Given the description of an element on the screen output the (x, y) to click on. 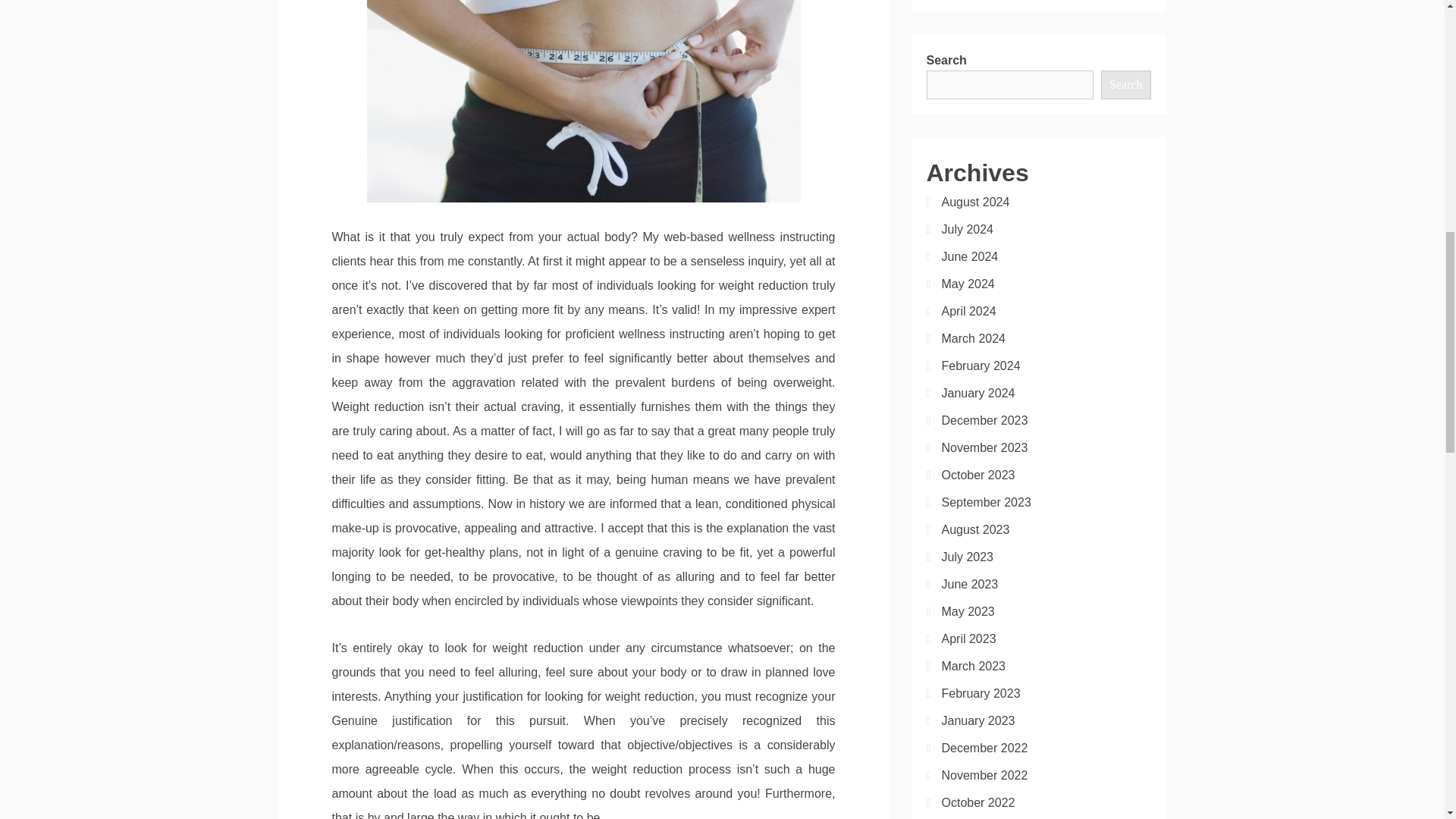
June 2023 (970, 584)
February 2024 (981, 365)
July 2024 (968, 228)
January 2024 (978, 392)
December 2023 (984, 420)
May 2024 (968, 283)
August 2023 (976, 529)
August 2024 (976, 201)
April 2024 (968, 310)
March 2024 (974, 338)
